Given the description of an element on the screen output the (x, y) to click on. 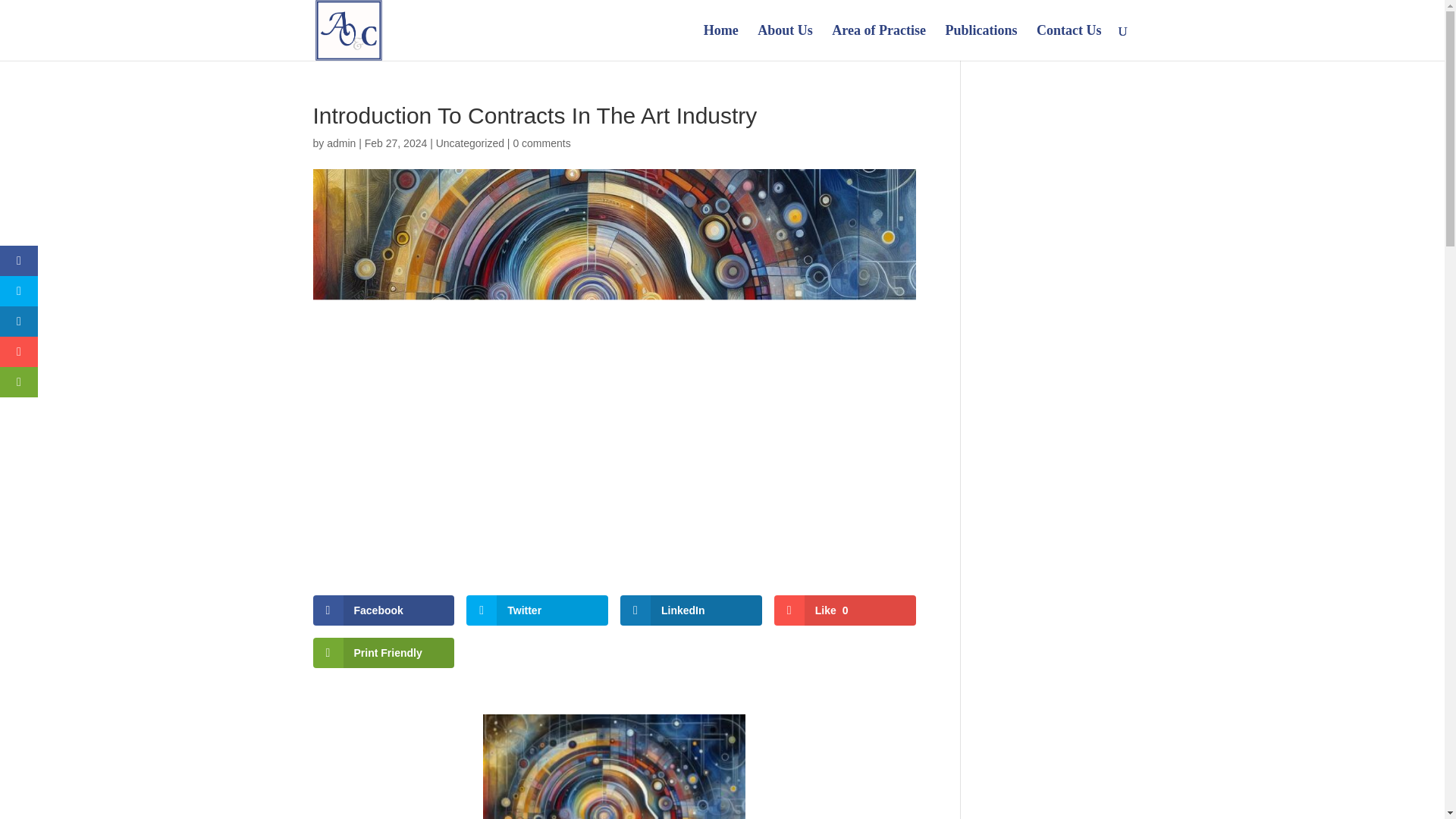
Area of Practise (878, 42)
admin (340, 143)
Contact Us (1069, 42)
Twitter (536, 610)
Uncategorized (469, 143)
LinkedIn (690, 610)
Facebook (383, 610)
About Us (784, 42)
Publications (980, 42)
Posts by admin (340, 143)
